Given the description of an element on the screen output the (x, y) to click on. 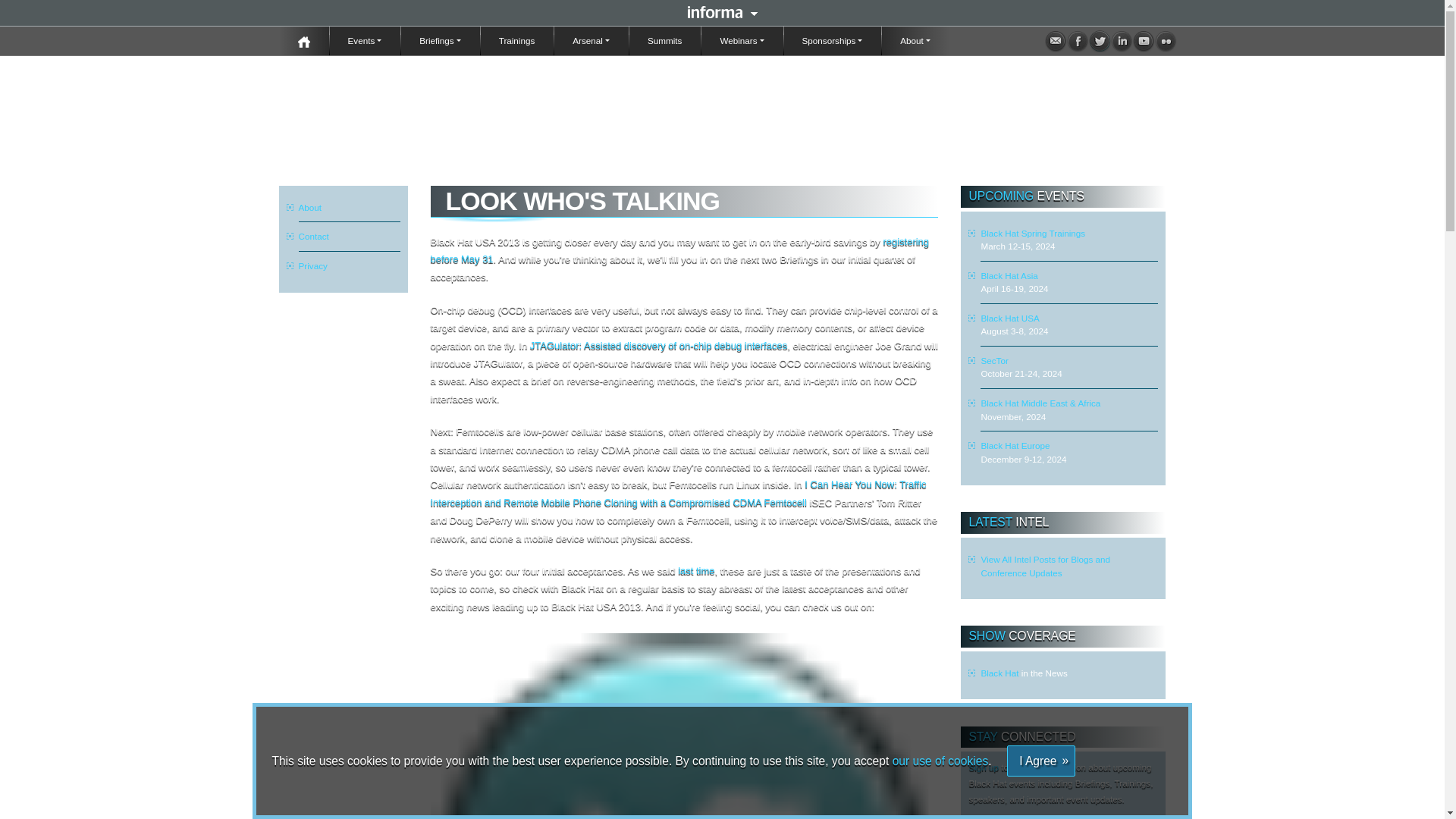
Mailing List (1056, 41)
Briefings (439, 40)
About (914, 40)
LinkedIn (1121, 41)
YouTube (1143, 41)
Flickr (1165, 41)
Arsenal (590, 40)
Events (365, 40)
Sponsorships (832, 40)
Summits (664, 40)
